Given the description of an element on the screen output the (x, y) to click on. 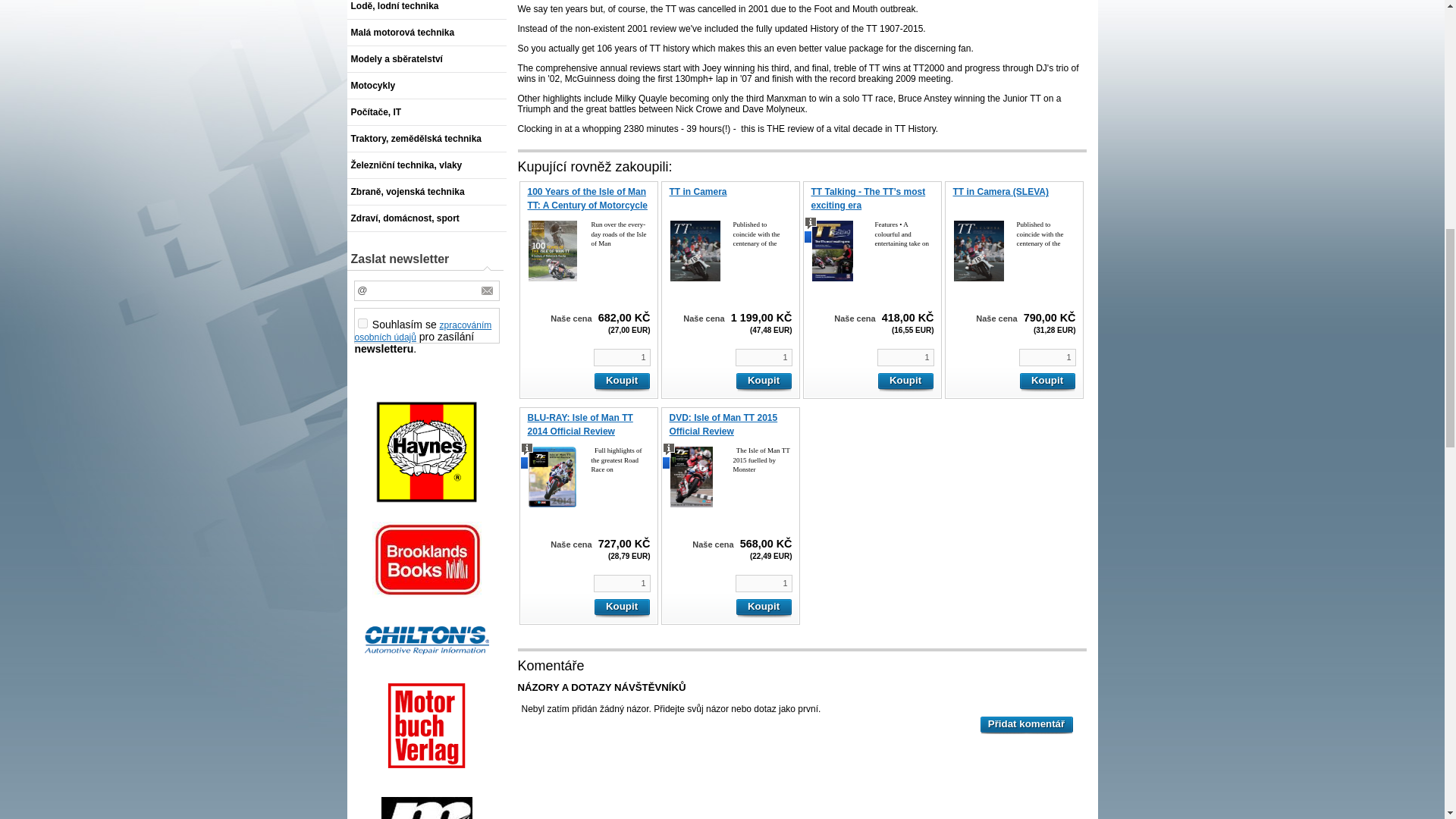
Koupit (1047, 382)
1 (763, 583)
Motocykly (426, 85)
1 (620, 357)
Koupit (620, 608)
1 (763, 357)
1 (904, 357)
Koupit (763, 608)
Koupit (620, 382)
1 (1047, 357)
1 (363, 323)
1 (620, 583)
Koupit (763, 382)
Koupit (904, 382)
